Given the description of an element on the screen output the (x, y) to click on. 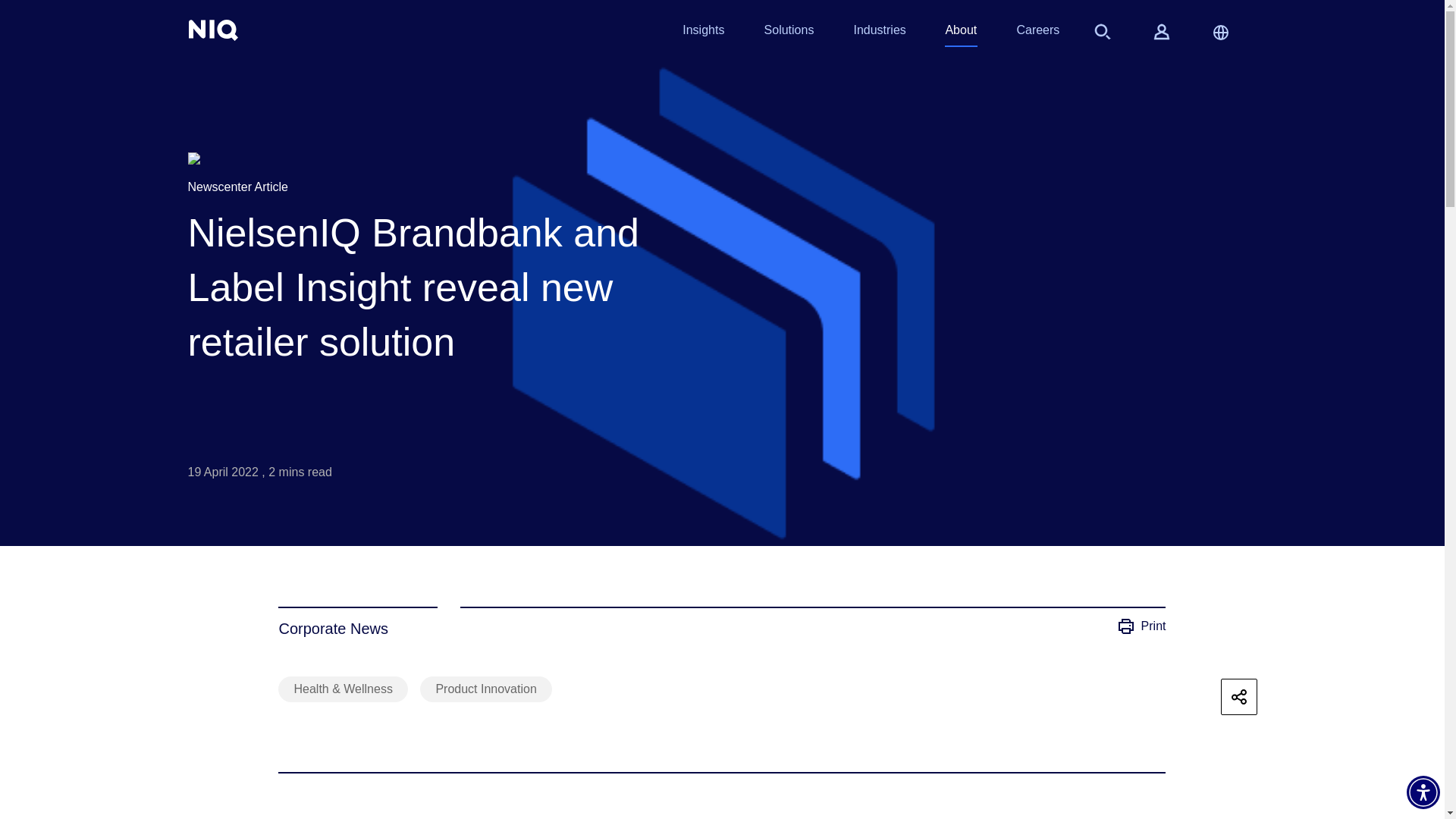
Industries (878, 33)
Solutions (788, 33)
Insights (703, 33)
Accessibility Menu (1422, 792)
Solutions (788, 33)
Insights (703, 33)
